Given the description of an element on the screen output the (x, y) to click on. 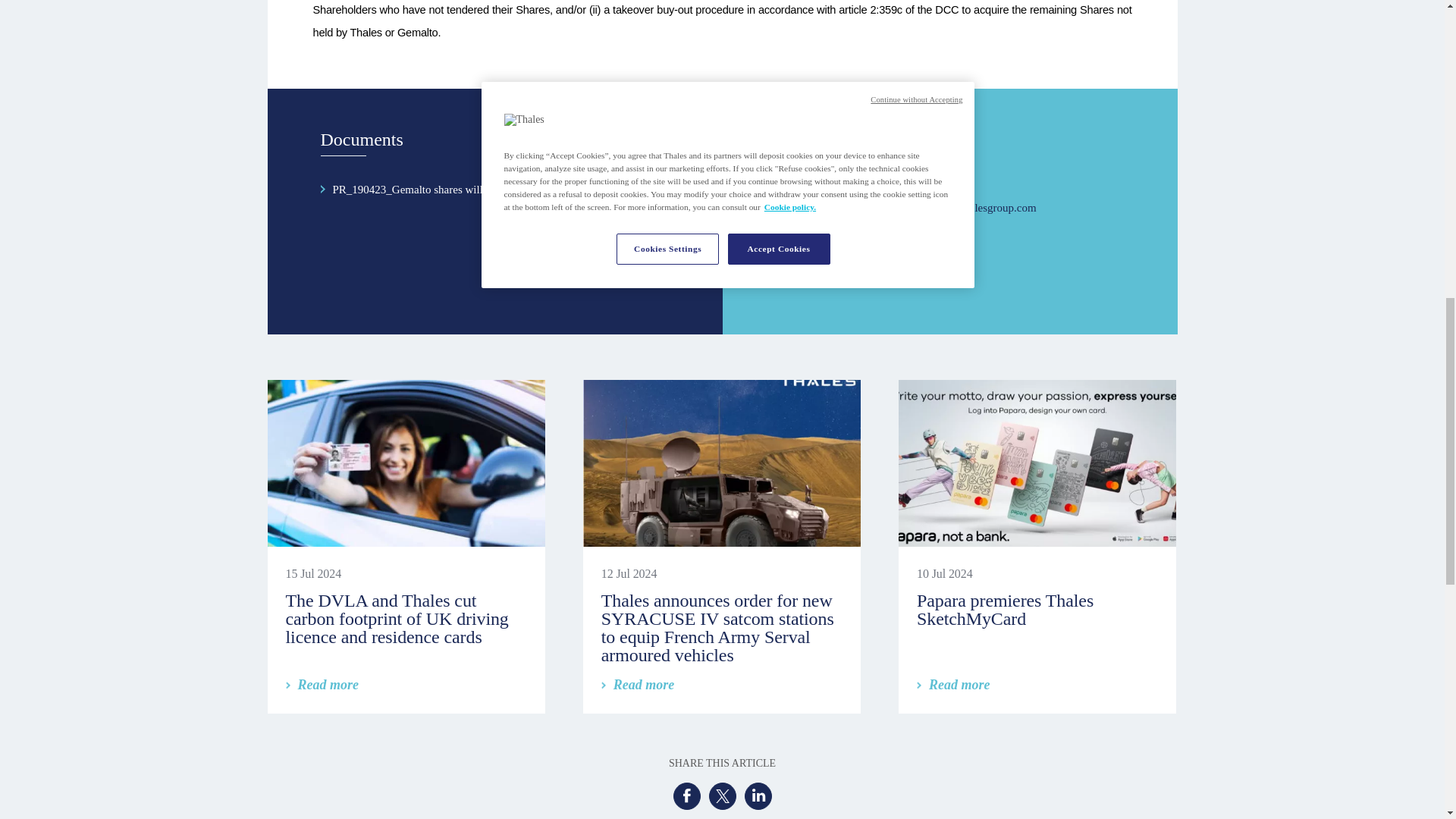
Papara premieres Thales SketchMyCard (1005, 609)
Read more (638, 684)
LinkedIn (757, 795)
Read more (321, 684)
Facebook (686, 795)
Read more (953, 684)
Twitter (721, 795)
